Given the description of an element on the screen output the (x, y) to click on. 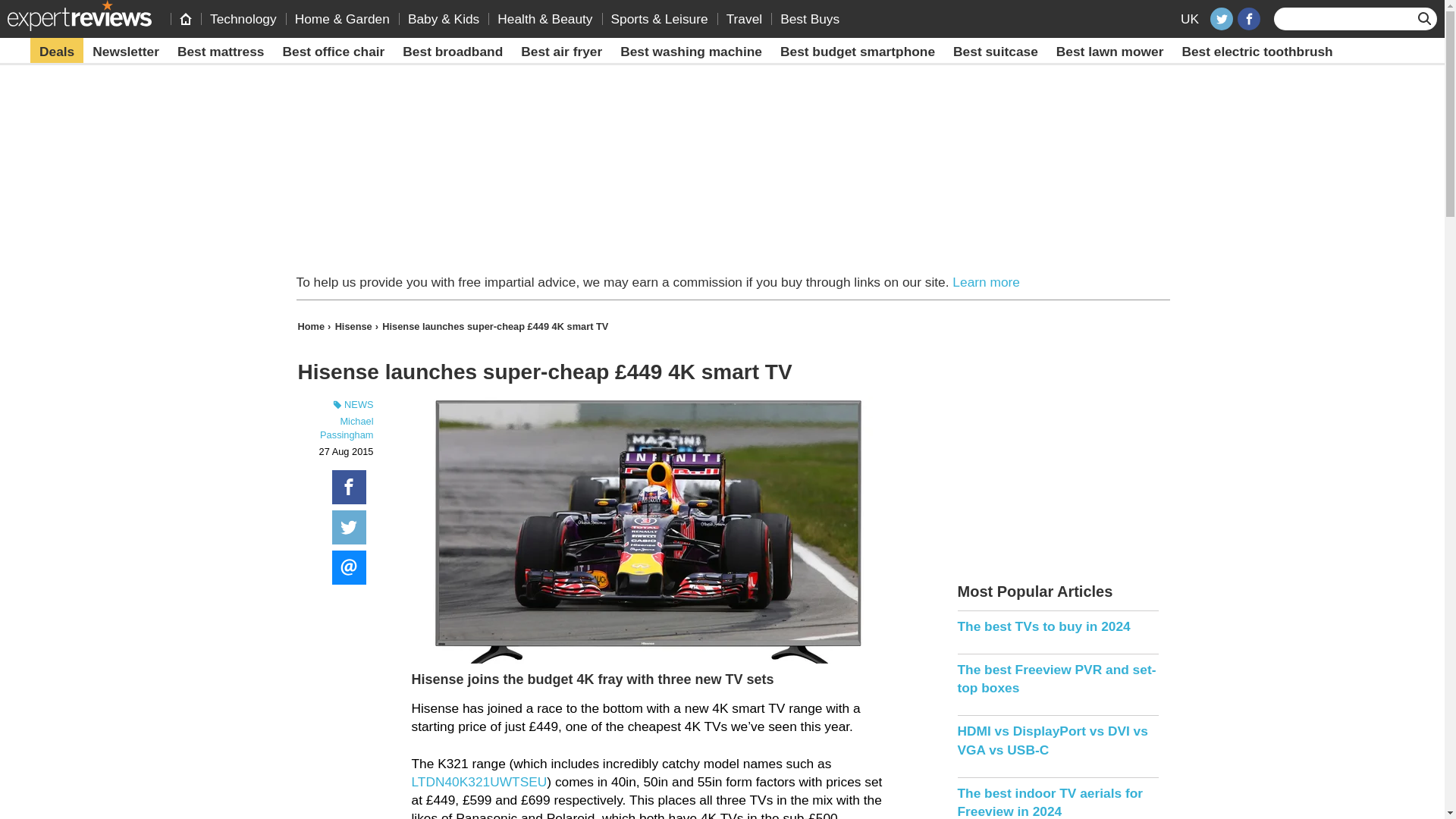
NEWS (334, 404)
Homepage (185, 18)
Best broadband (452, 51)
Home (313, 326)
Deals (56, 51)
Best electric toothbrush (1256, 51)
LTDN40K321UWTSEU (478, 781)
Hisense (355, 326)
The best indoor TV aerials for Freeview in 2024 (1056, 801)
Best budget smartphone (857, 51)
Michael Passingham (346, 427)
The best TVs to buy in 2024 (1056, 626)
Best office chair (333, 51)
Expert Reviews (79, 15)
Start search (1425, 18)
